Given the description of an element on the screen output the (x, y) to click on. 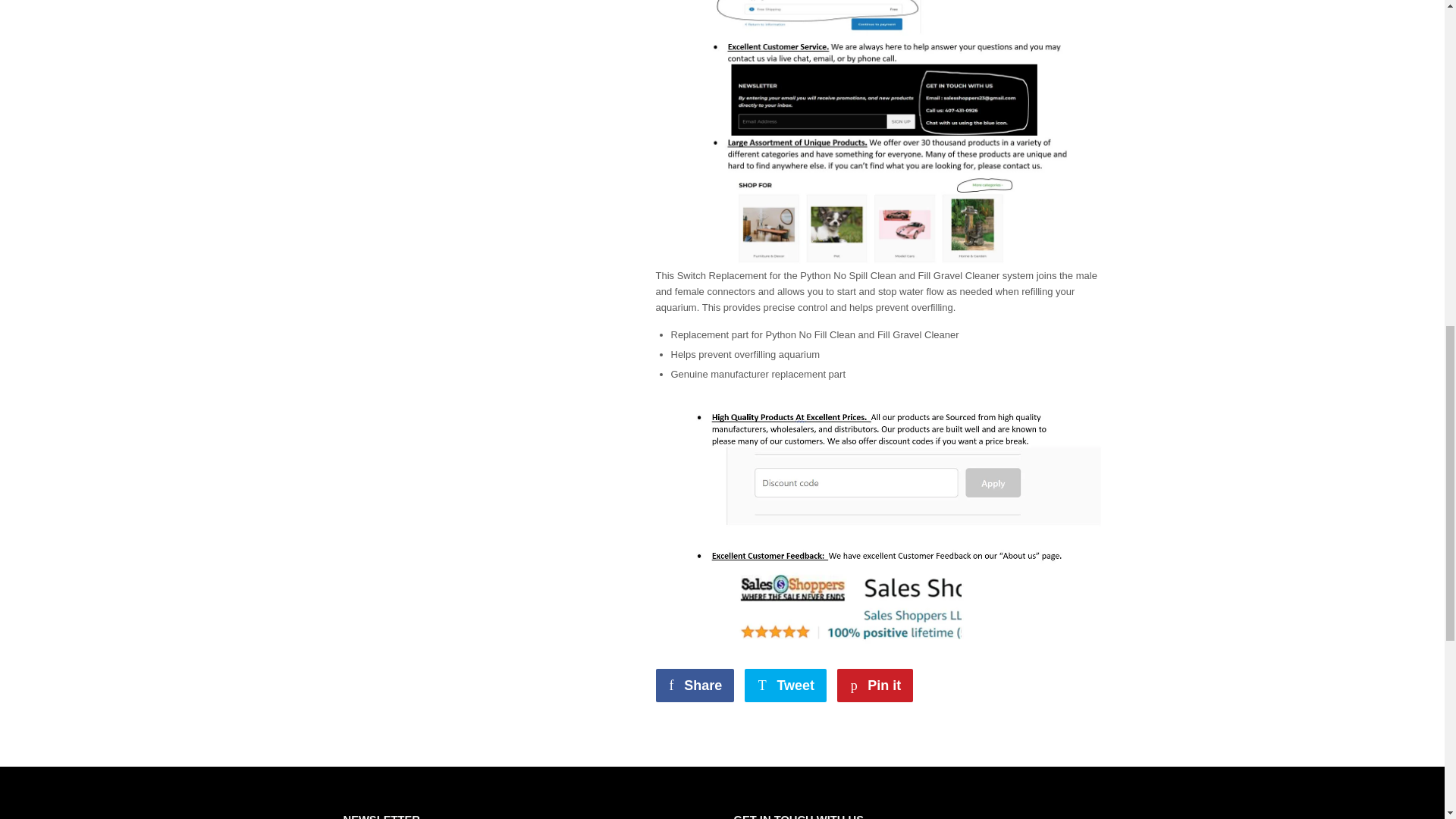
Pin on Pinterest (875, 685)
Tweet on Twitter (785, 685)
Share on Facebook (785, 685)
